Given the description of an element on the screen output the (x, y) to click on. 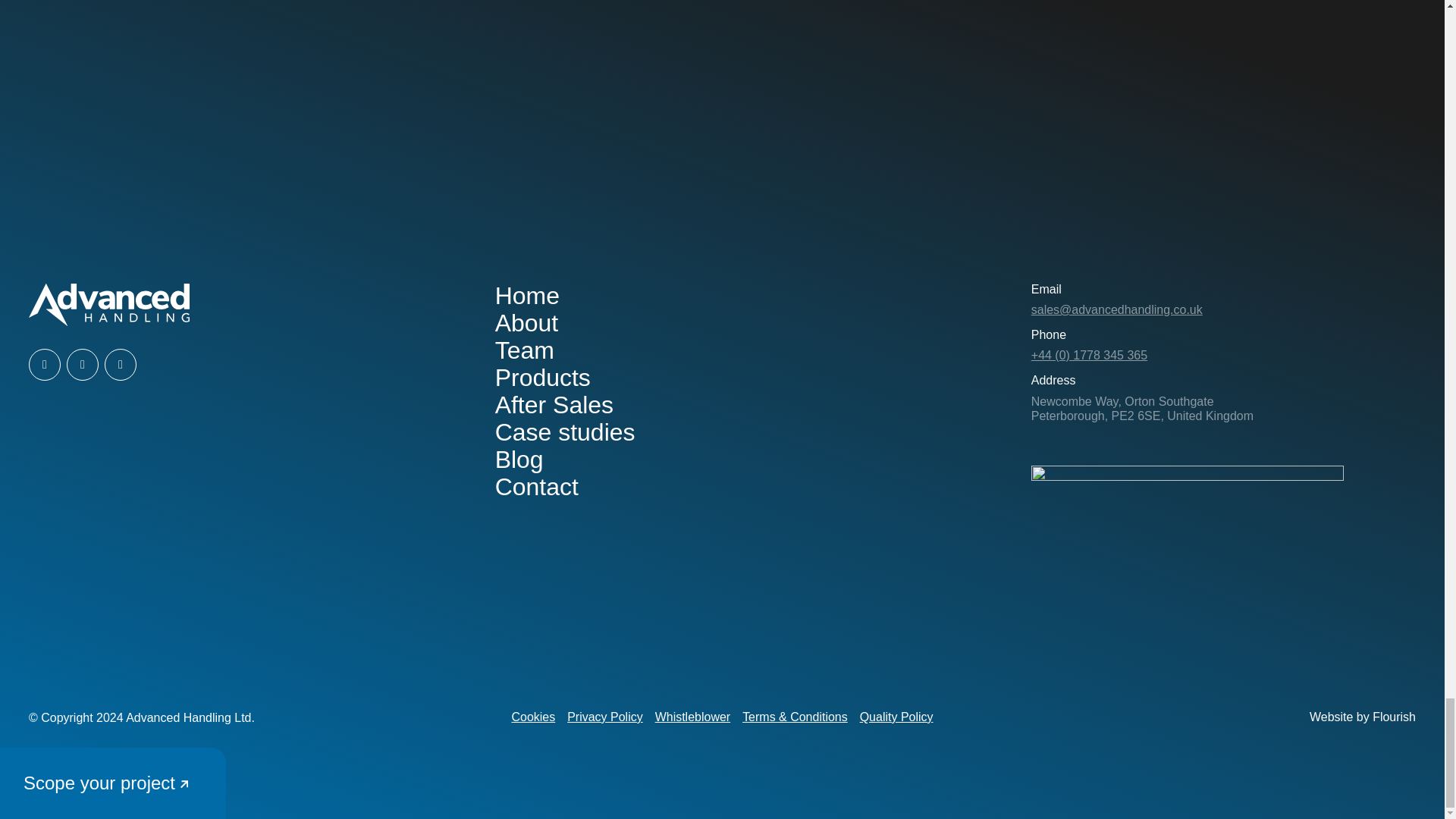
About (527, 322)
home (109, 304)
Home (527, 295)
Team (524, 349)
